Given the description of an element on the screen output the (x, y) to click on. 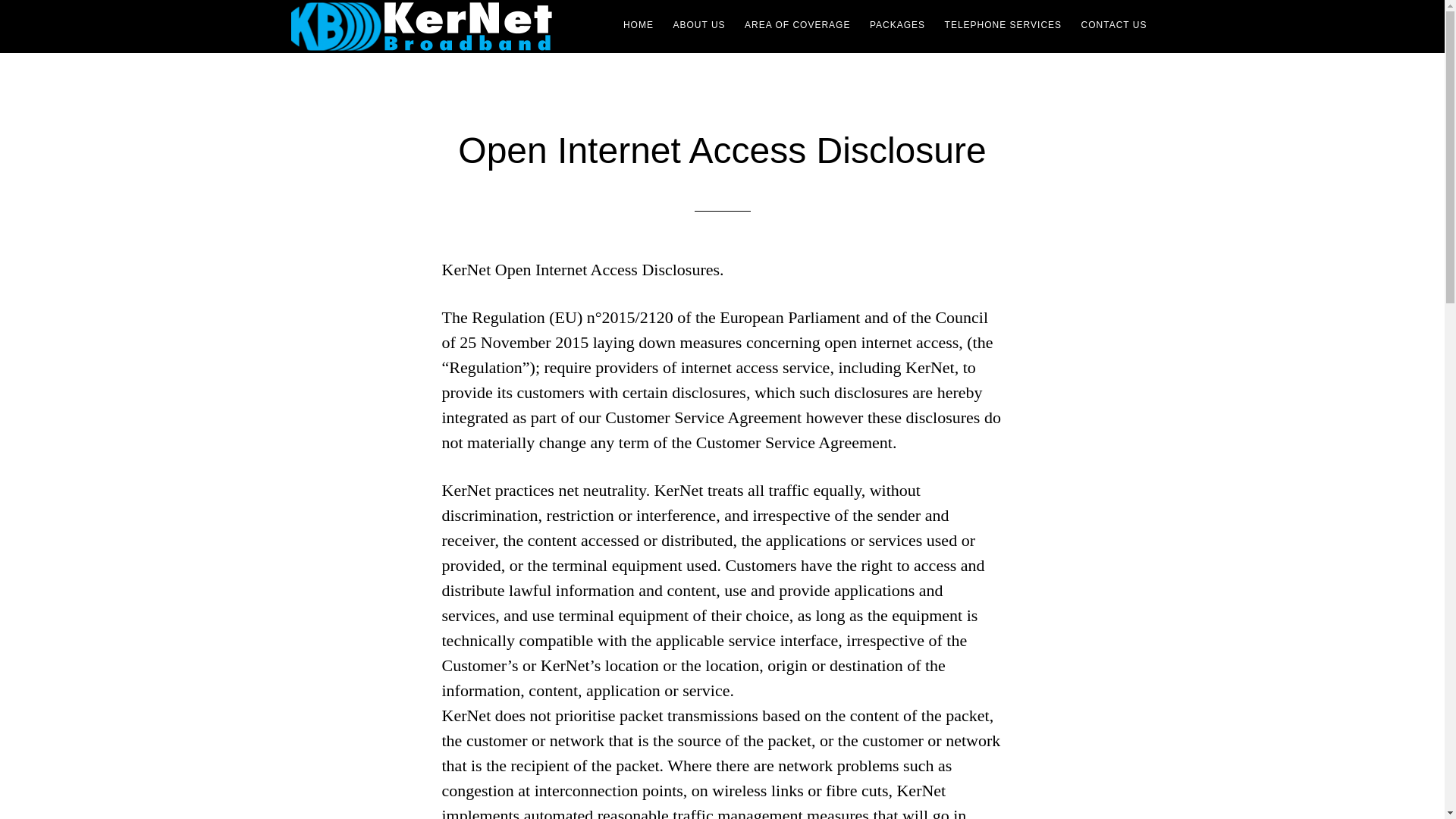
CONTACT US (1114, 24)
AREA OF COVERAGE (796, 24)
TELEPHONE SERVICES (1003, 24)
KERNET BROADBAND (425, 26)
HOME (638, 24)
ABOUT US (698, 24)
PACKAGES (897, 24)
